Given the description of an element on the screen output the (x, y) to click on. 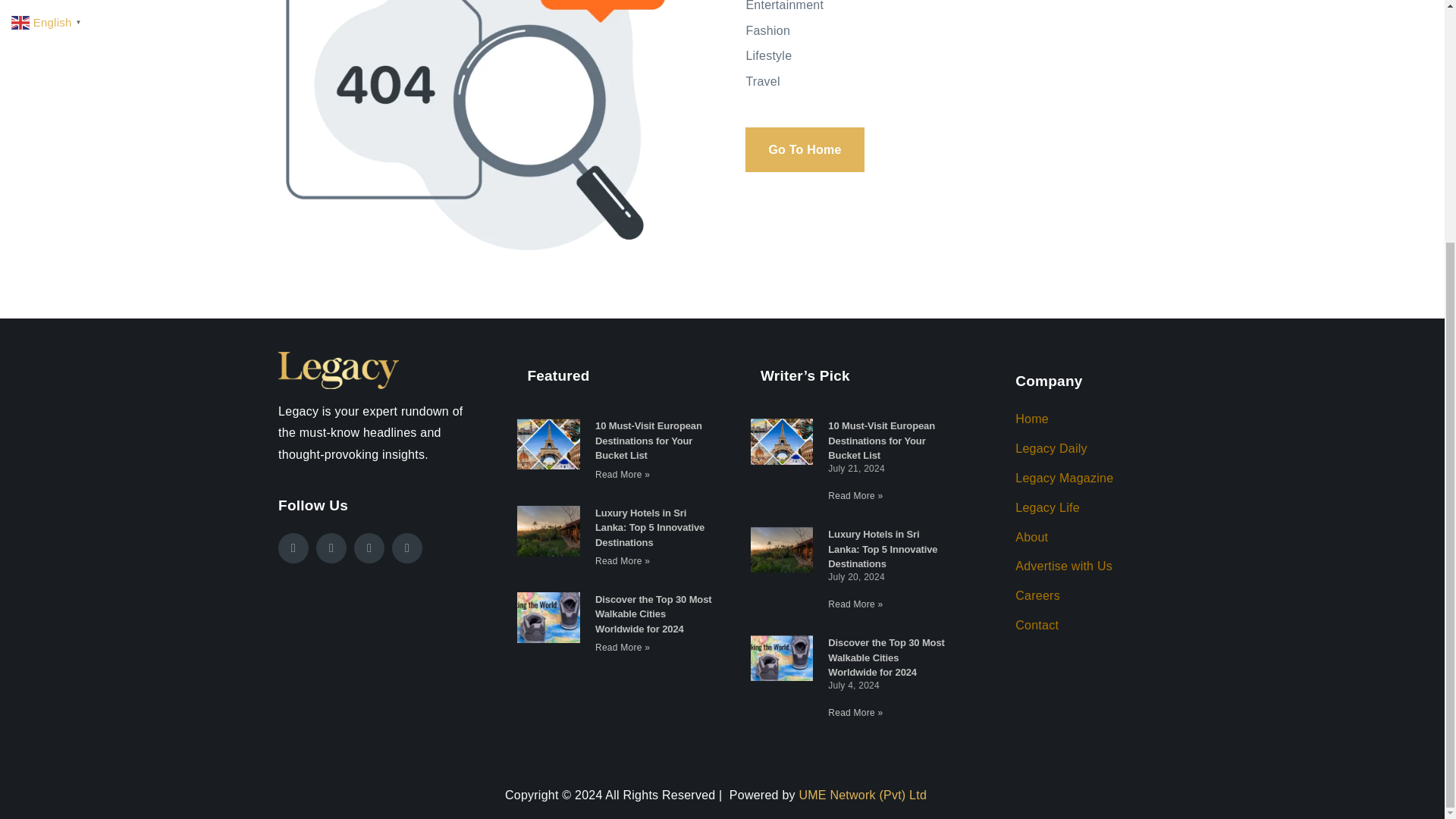
Fashion (968, 31)
Legacy-logo-2 (338, 370)
Travel (968, 82)
Go To Home (804, 149)
Entertainment (968, 8)
Lifestyle (968, 56)
